Given the description of an element on the screen output the (x, y) to click on. 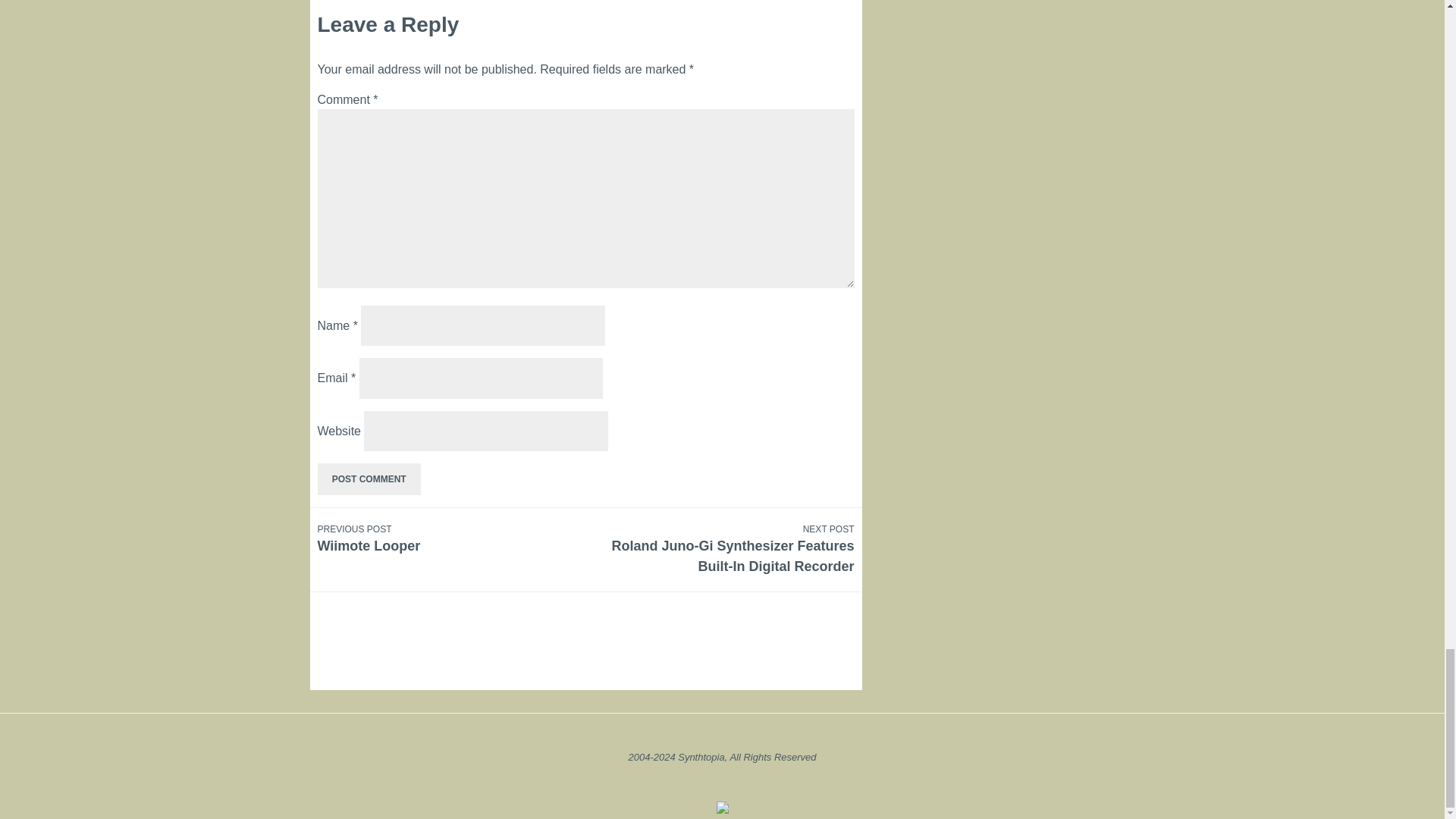
Post Comment (368, 479)
